Given the description of an element on the screen output the (x, y) to click on. 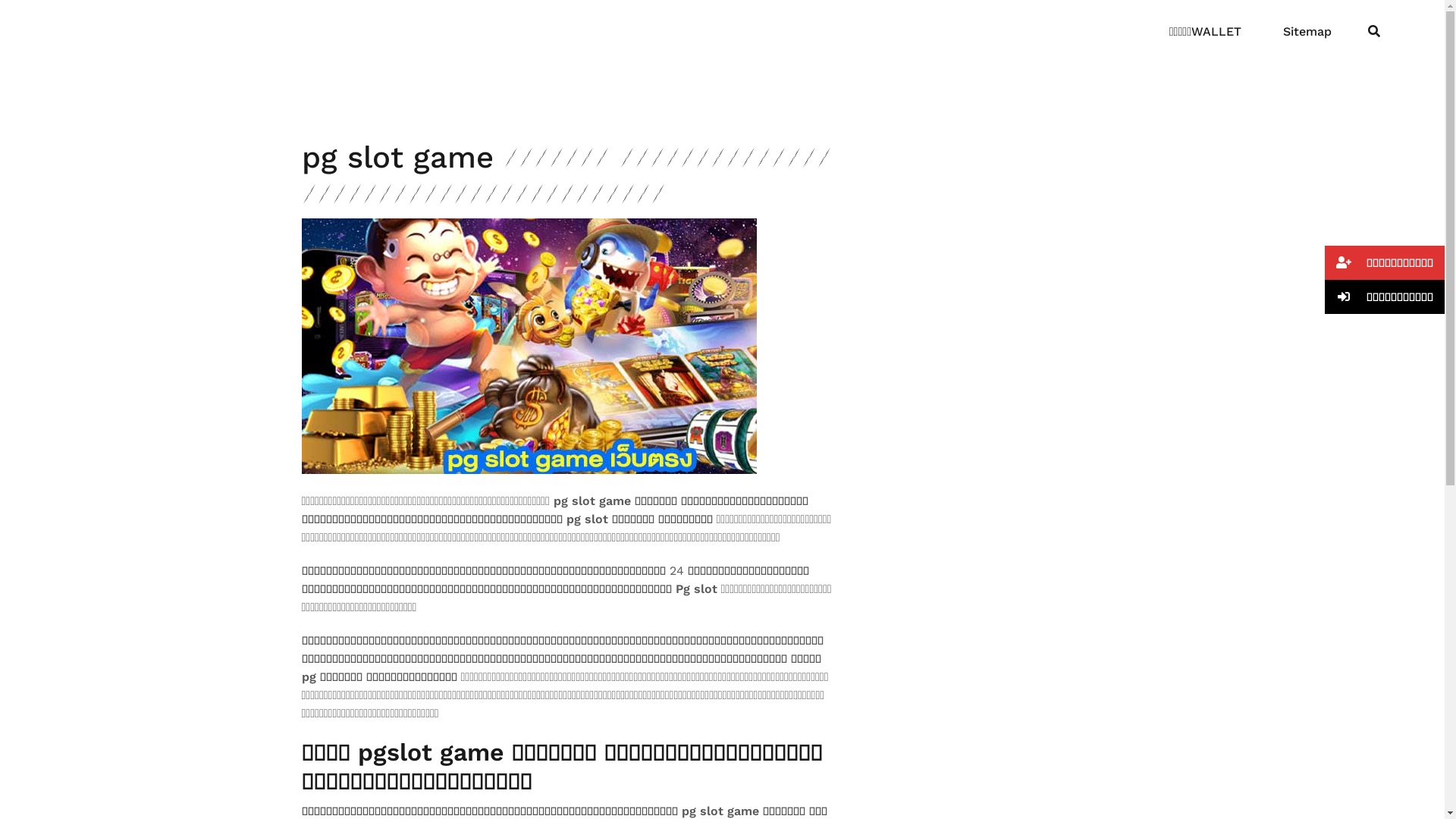
Sitemap Element type: text (1307, 31)
